Given the description of an element on the screen output the (x, y) to click on. 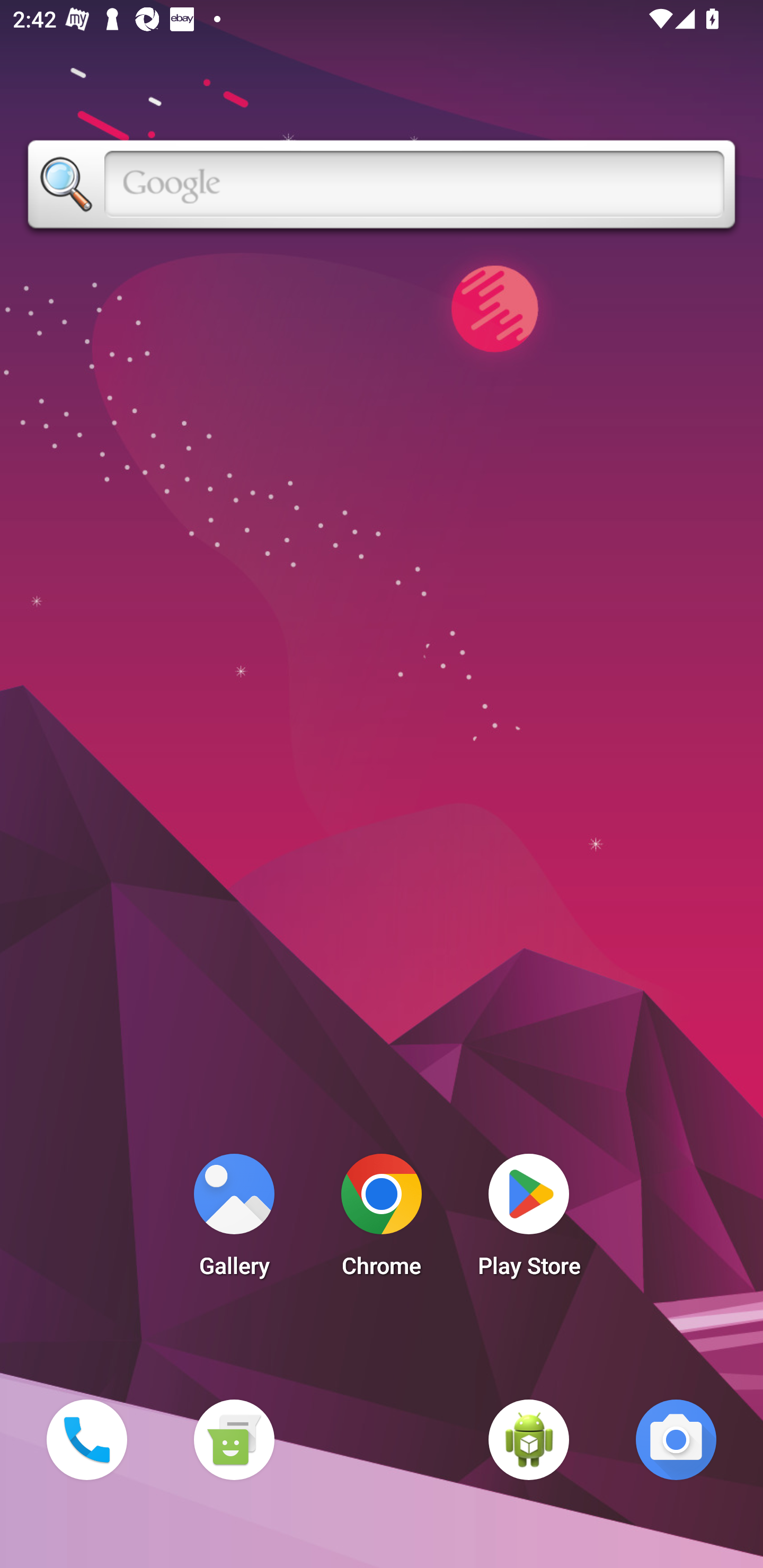
Gallery (233, 1220)
Chrome (381, 1220)
Play Store (528, 1220)
Phone (86, 1439)
Messaging (233, 1439)
WebView Browser Tester (528, 1439)
Camera (676, 1439)
